Given the description of an element on the screen output the (x, y) to click on. 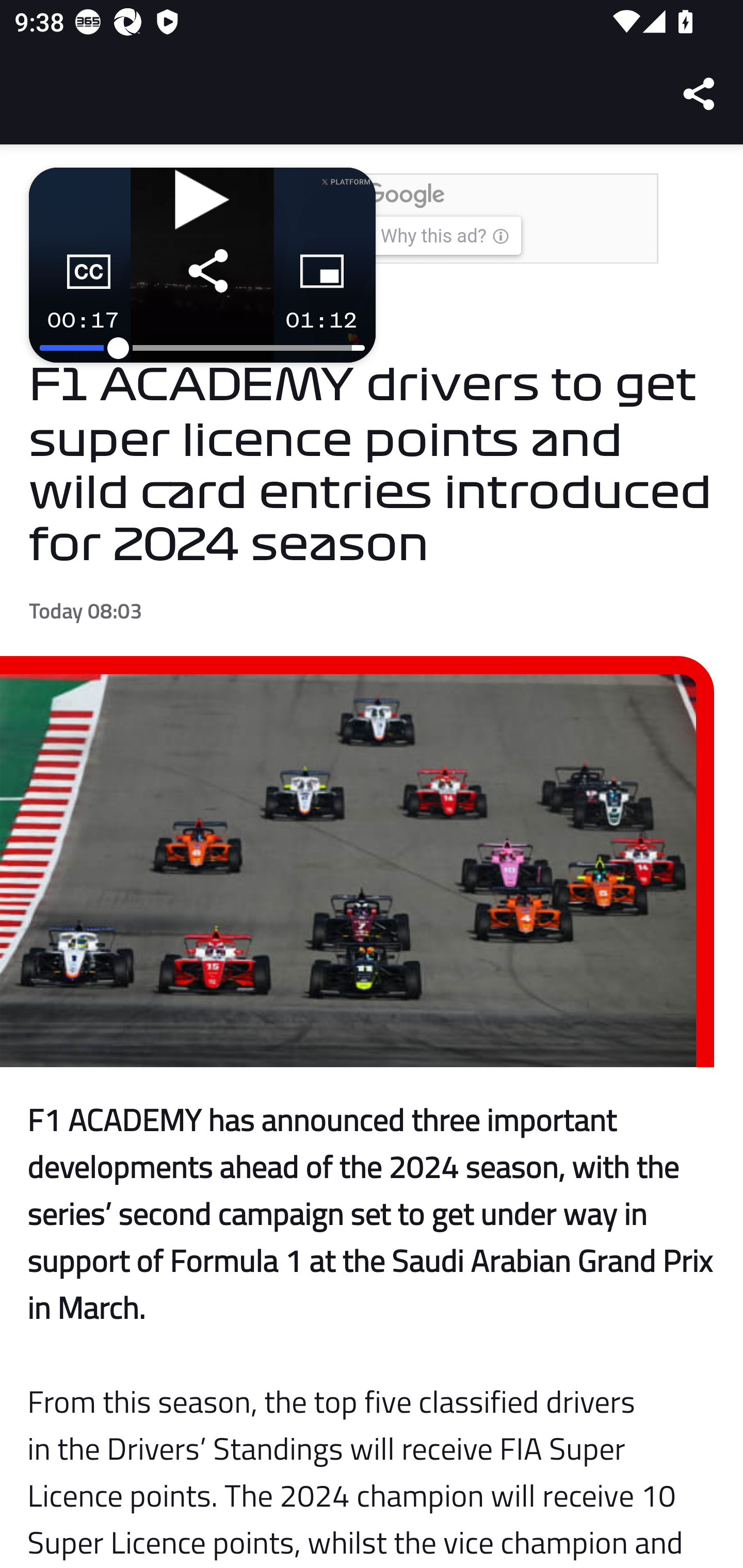
Share (699, 93)
